Given the description of an element on the screen output the (x, y) to click on. 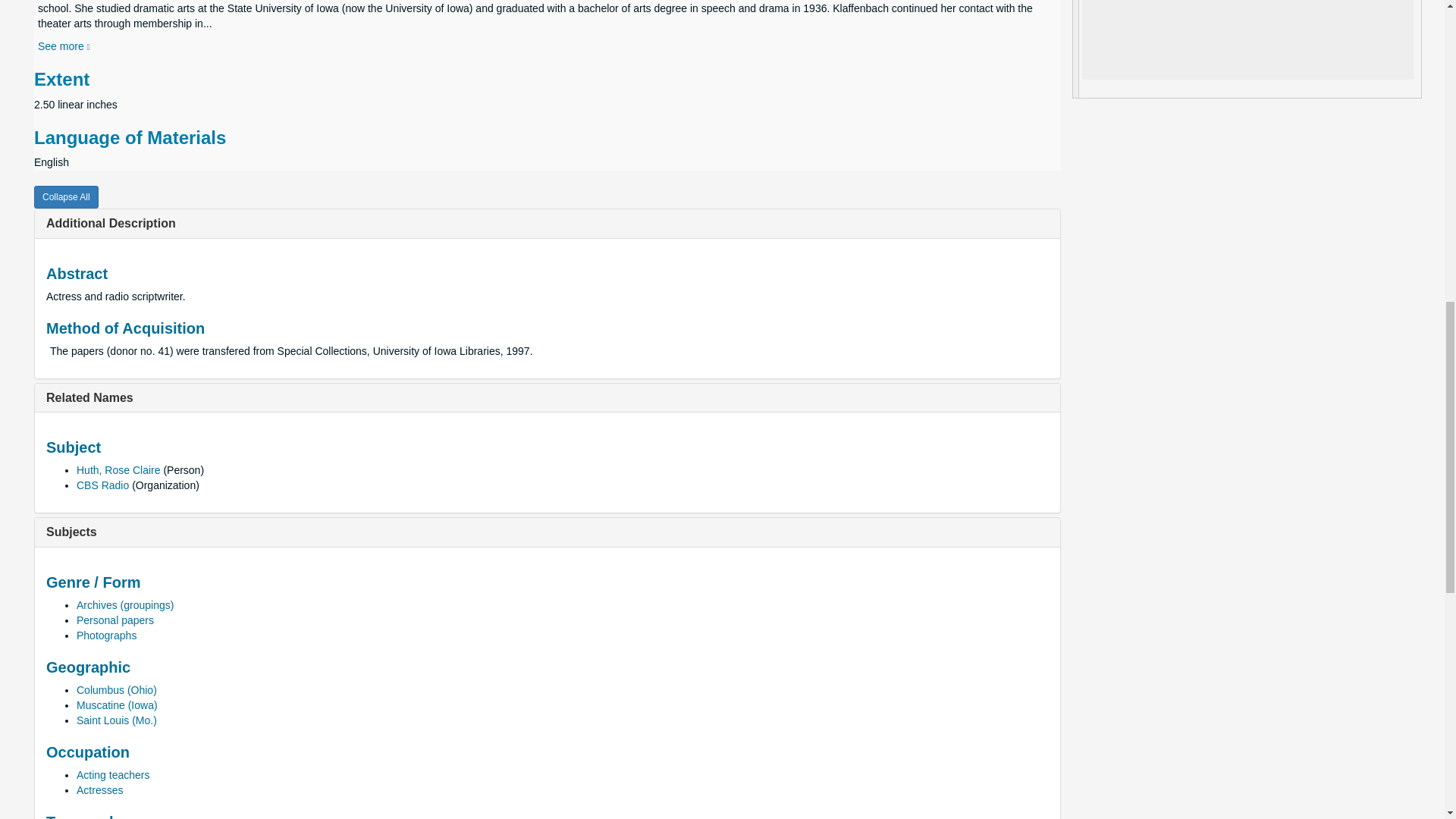
Collapse All (66, 196)
Actresses (99, 789)
Acting teachers (113, 775)
Photographs (106, 635)
Related Names (89, 397)
Huth, Rose Claire (118, 469)
CBS Radio (103, 485)
See more (63, 46)
Personal papers (115, 620)
Additional Description (111, 223)
Subjects (71, 531)
